Given the description of an element on the screen output the (x, y) to click on. 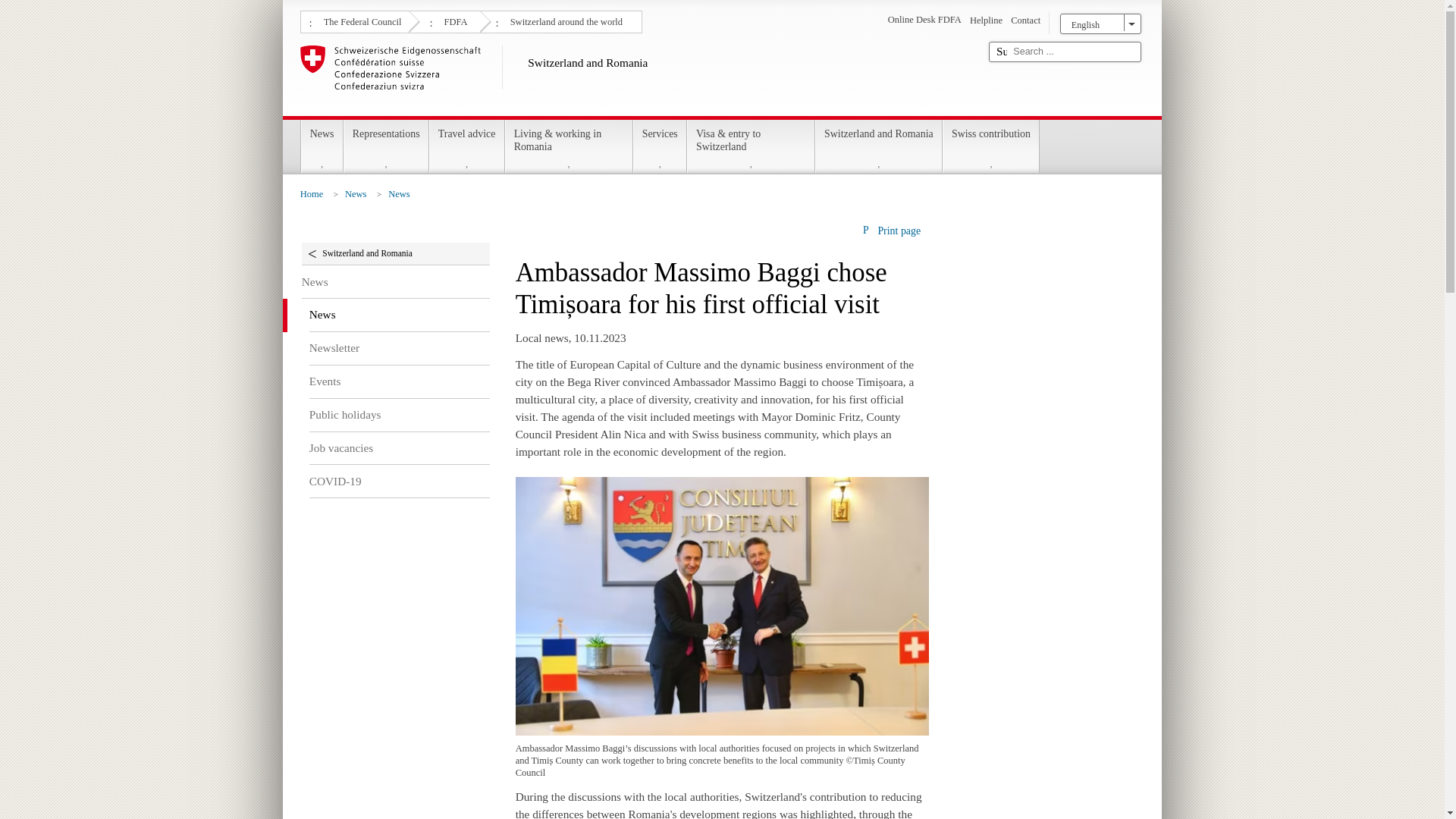
Switzerland and Romania (637, 76)
Switzerland around the world (564, 20)
The Federal Council (360, 20)
FDFA (454, 20)
